Given the description of an element on the screen output the (x, y) to click on. 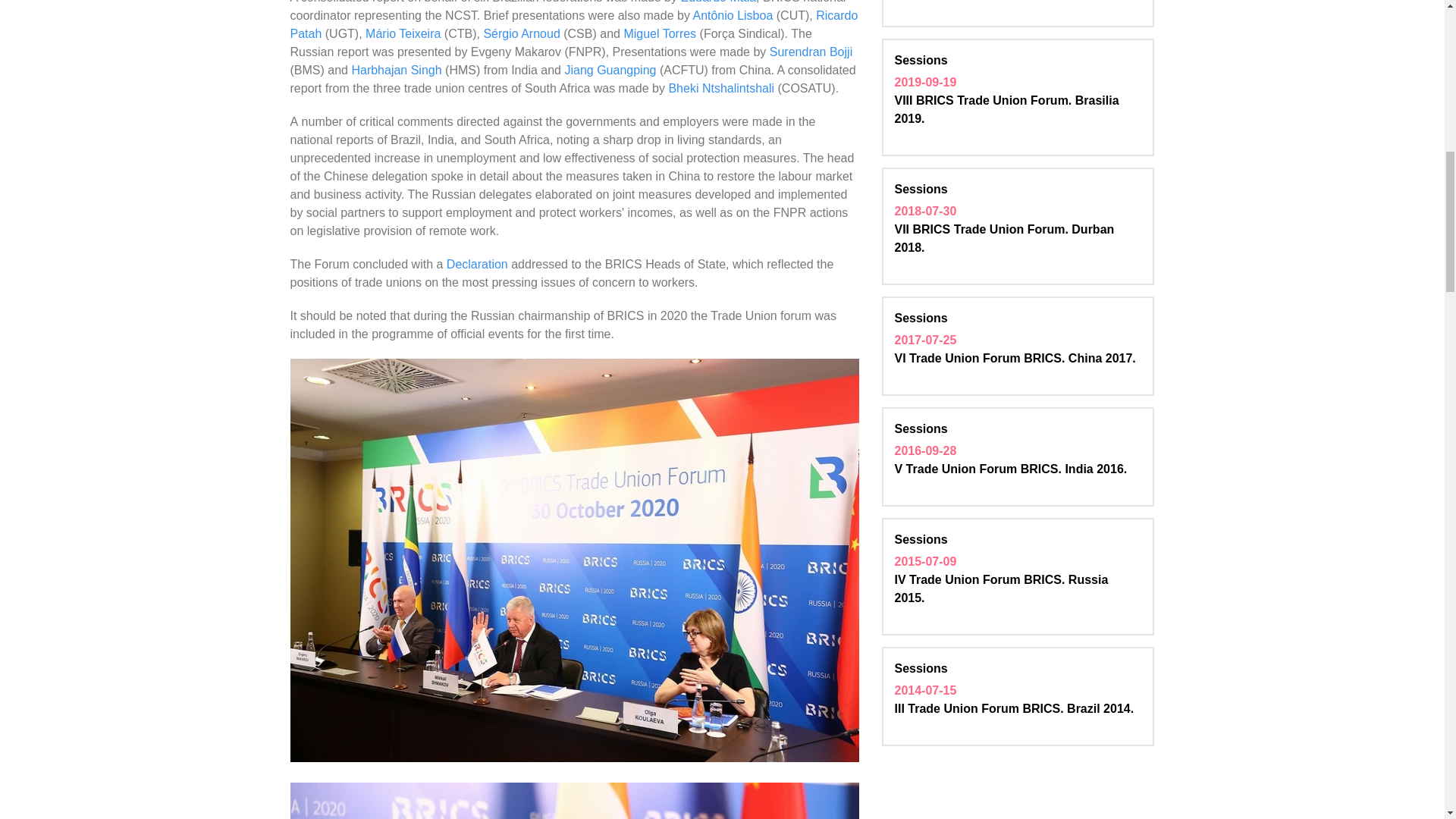
Surendran Bojji (810, 51)
Harbhajan Singh (397, 69)
Ricardo Patah (573, 24)
Eduardo Maia (717, 2)
Jiang Guangping (610, 69)
Miguel Torres (659, 33)
Declaration (477, 264)
Bheki Ntshalintshali (722, 88)
